Given the description of an element on the screen output the (x, y) to click on. 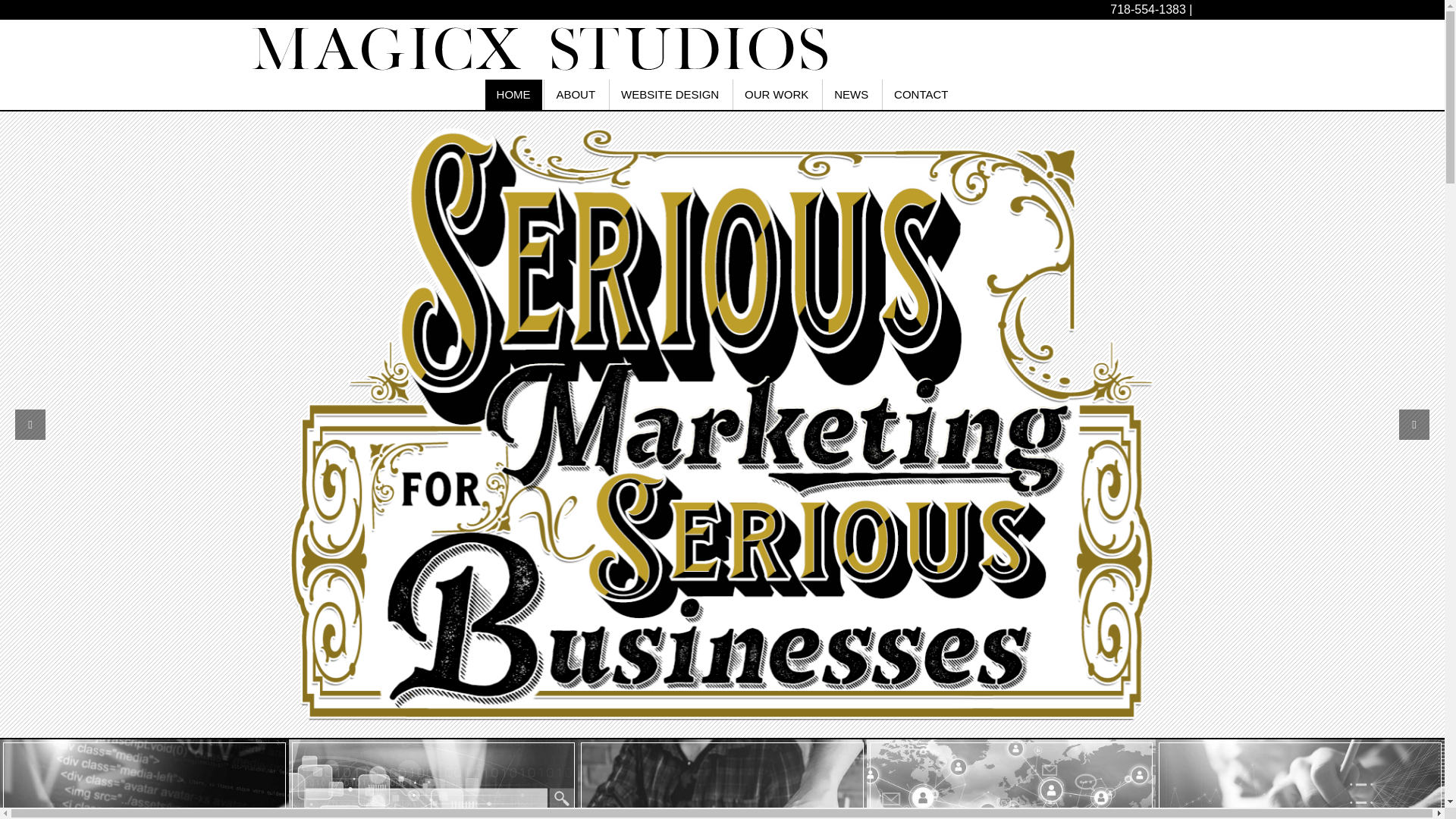
HOME (512, 94)
WEBSITE DESIGN (670, 94)
ABOUT (575, 94)
OUR WORK (776, 94)
CONTACT (722, 778)
NEWS (920, 94)
Skip to content (850, 94)
